Given the description of an element on the screen output the (x, y) to click on. 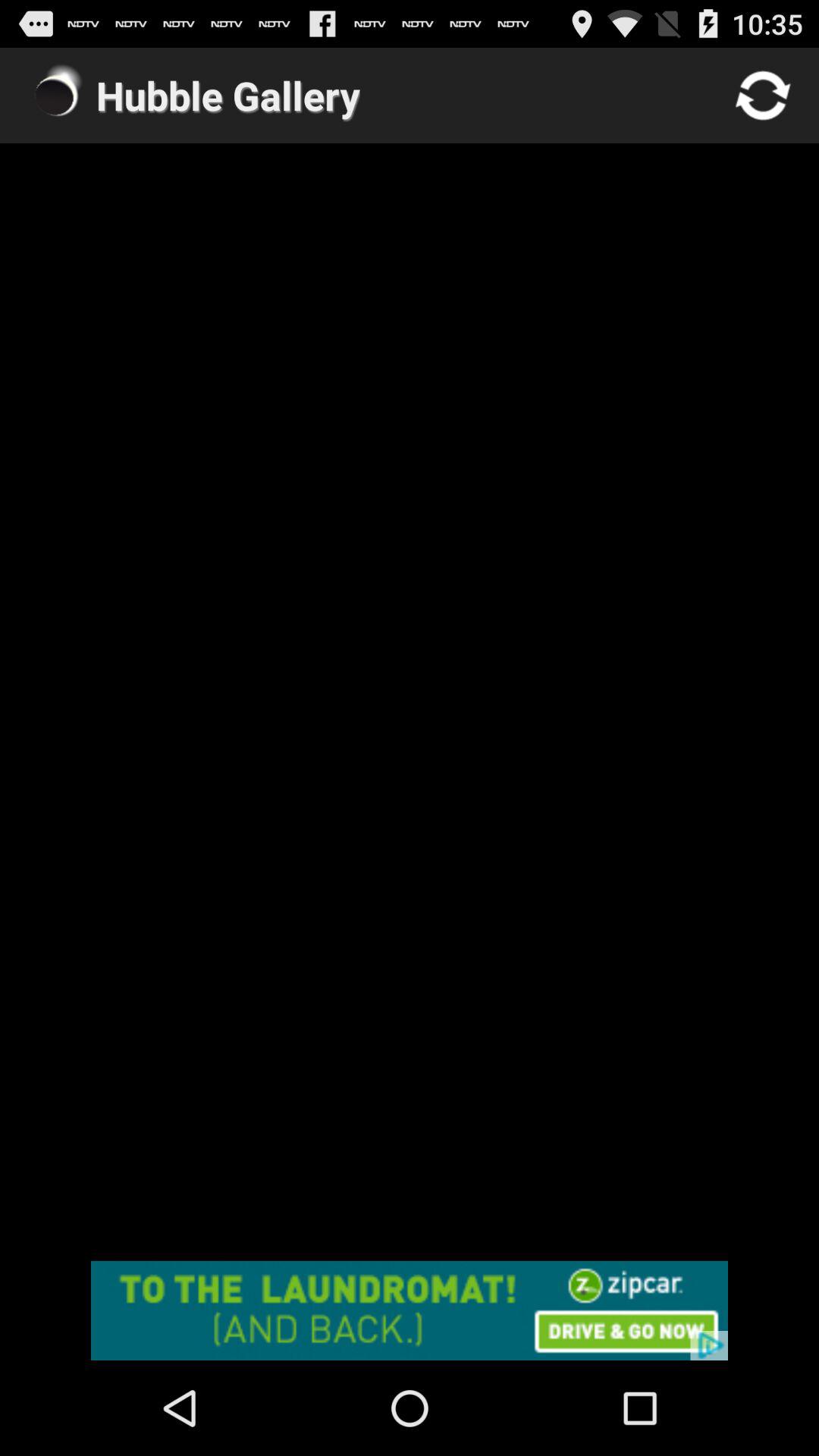
refresh page (763, 95)
